Given the description of an element on the screen output the (x, y) to click on. 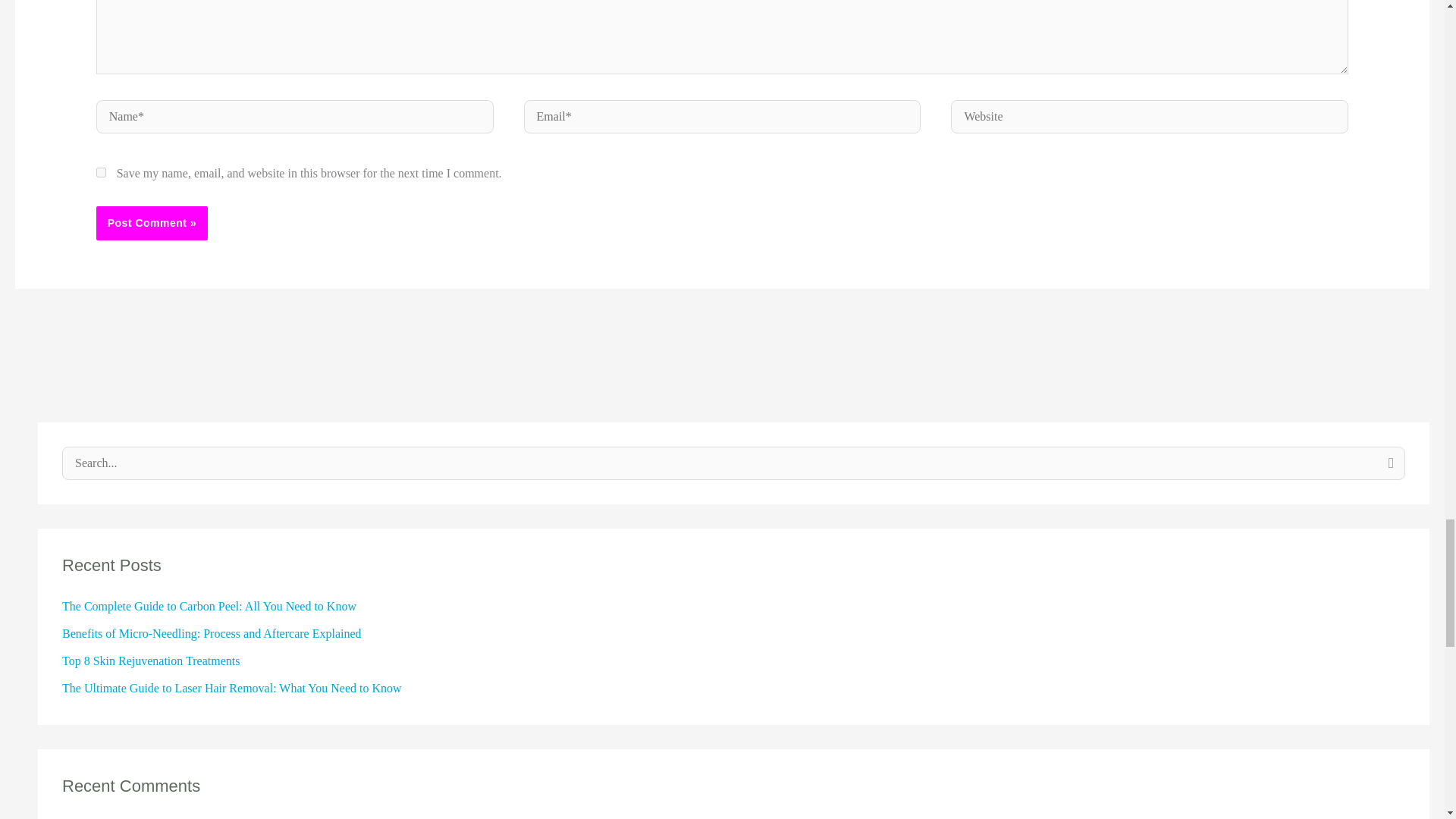
Top 8 Skin Rejuvenation Treatments (151, 660)
The Complete Guide to Carbon Peel: All You Need to Know (209, 605)
yes (101, 172)
Benefits of Micro-Needling: Process and Aftercare Explained (211, 633)
